Given the description of an element on the screen output the (x, y) to click on. 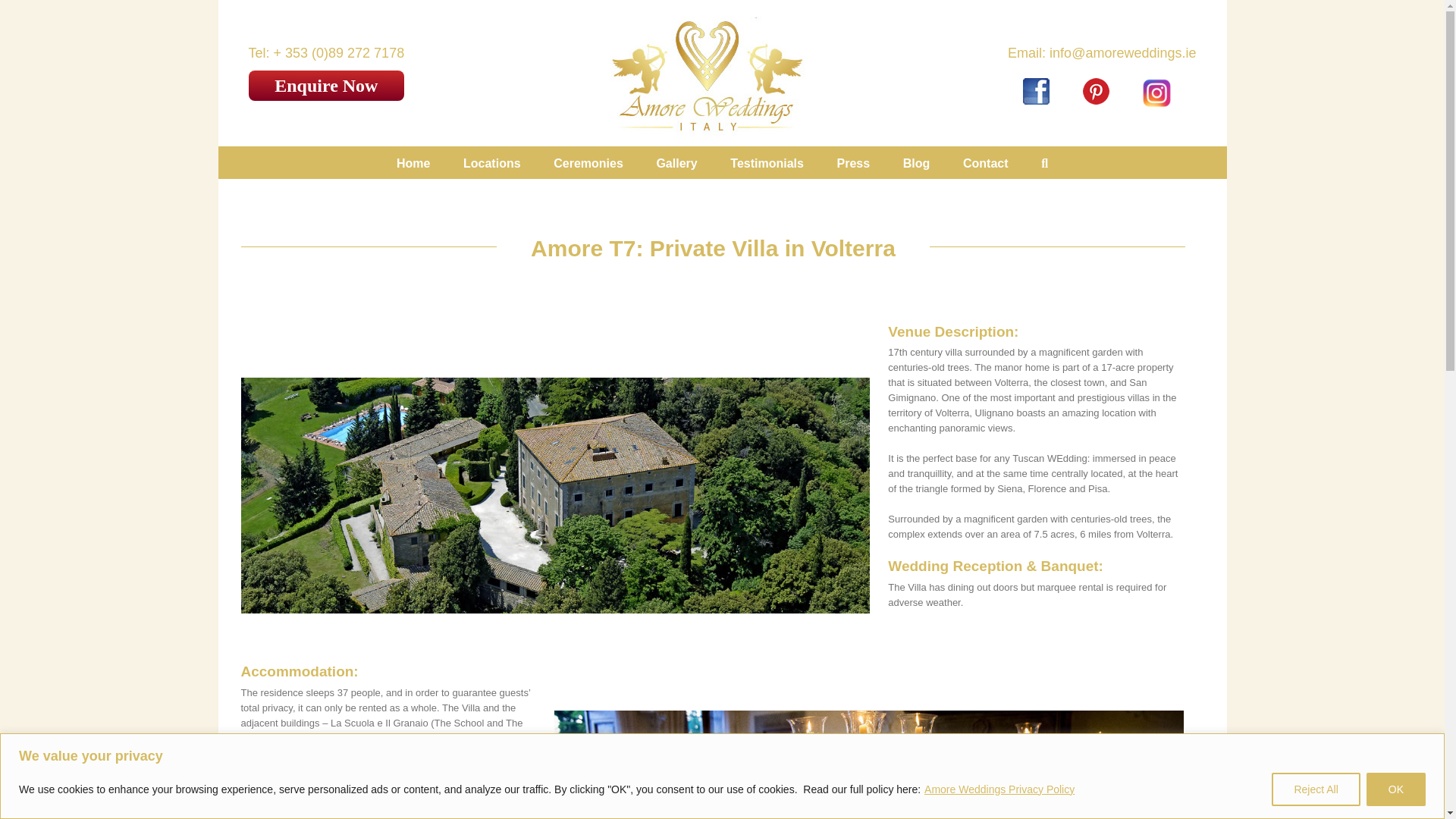
Reject All (1315, 788)
Gallery (676, 162)
Amore Weddings Privacy Policy (999, 789)
Home (412, 162)
Ceremonies (588, 162)
Press (853, 162)
Amore Weddings on Instagram (1157, 77)
Enquire Now (326, 85)
Testimonials (766, 162)
Locations (492, 162)
OK (1396, 788)
